Given the description of an element on the screen output the (x, y) to click on. 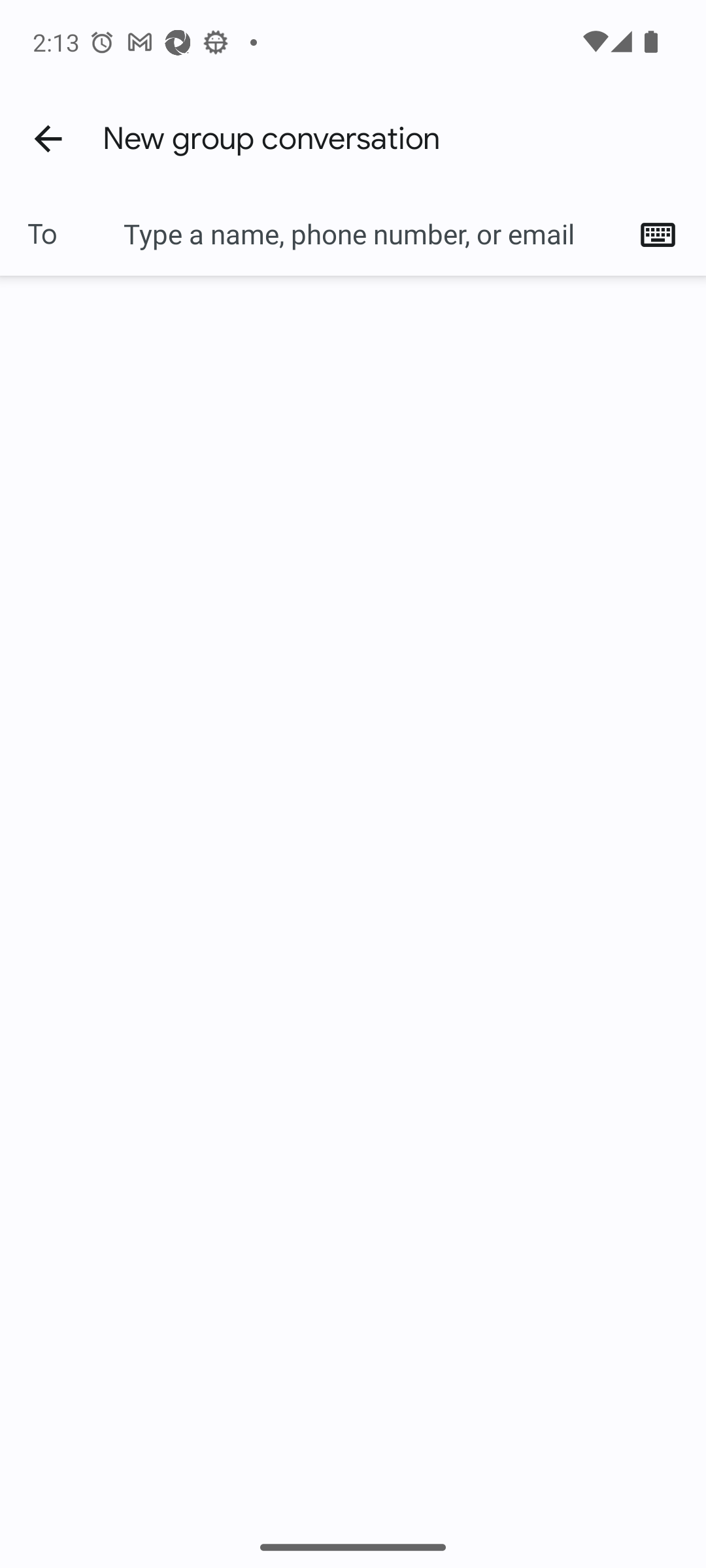
Navigate up (48, 137)
Type a name, phone number, or email (373, 233)
Switch between entering text and numbers (664, 233)
